Given the description of an element on the screen output the (x, y) to click on. 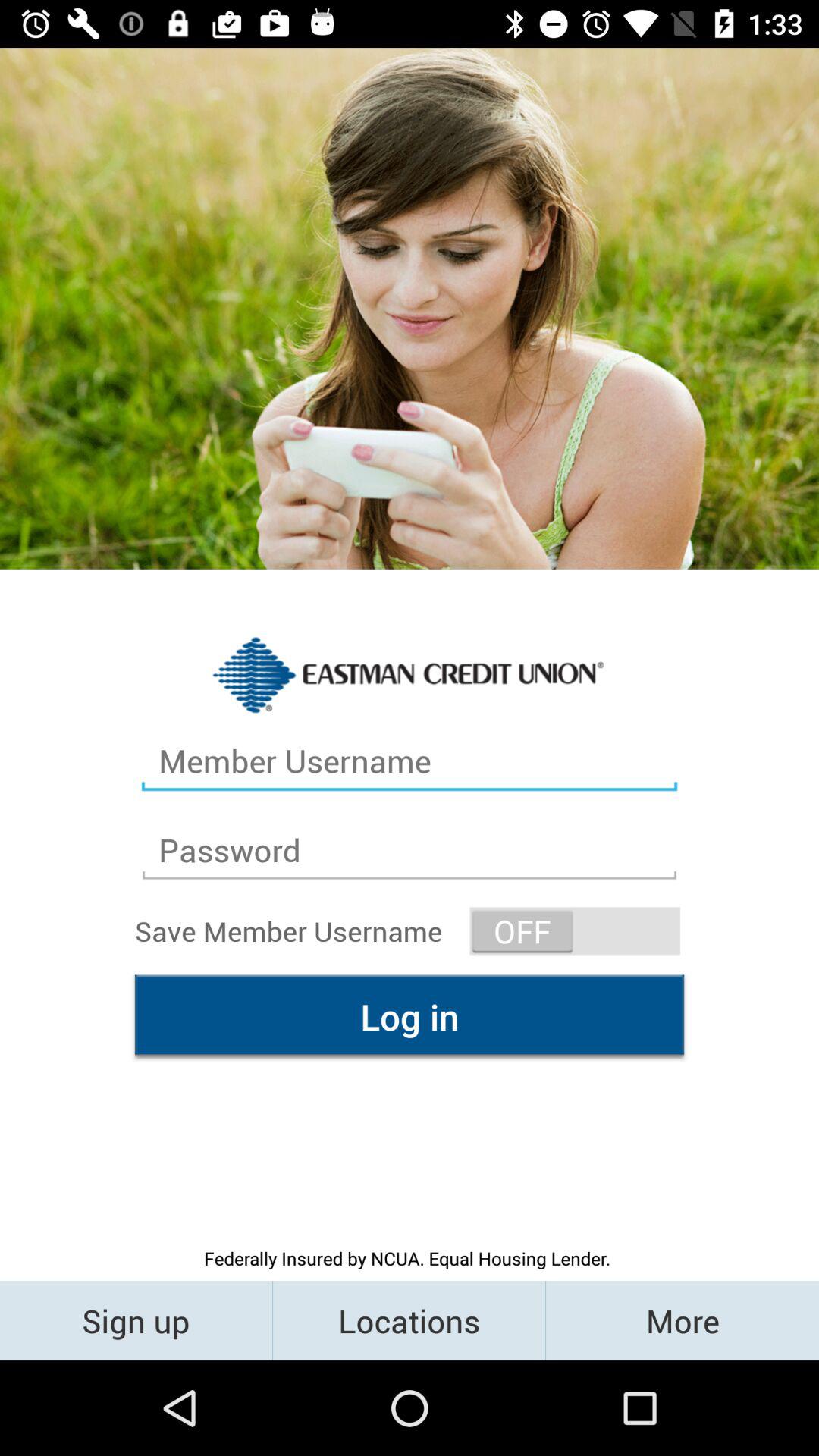
swipe until more item (682, 1320)
